Given the description of an element on the screen output the (x, y) to click on. 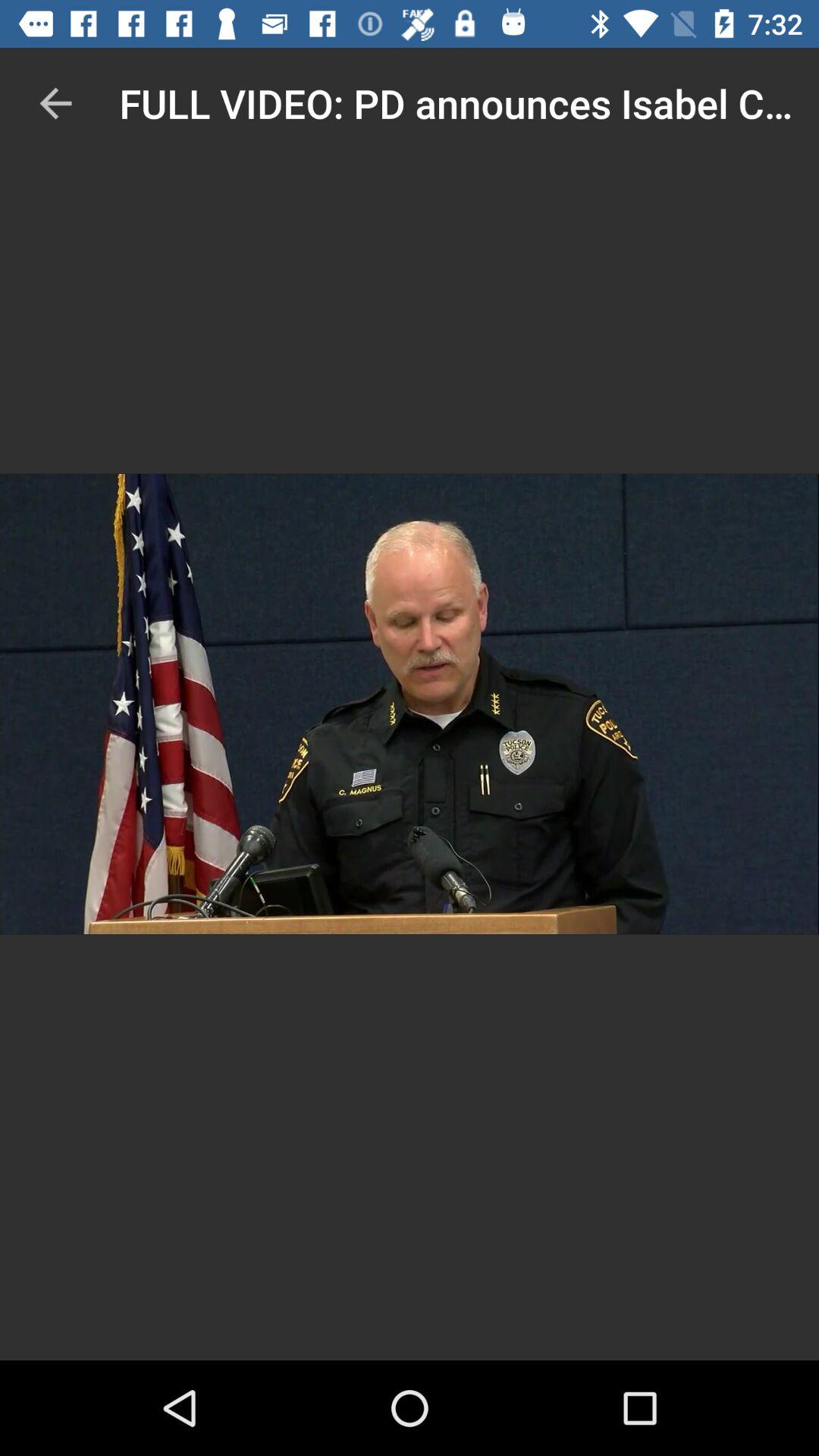
tap item to the left of full video pd (55, 103)
